Given the description of an element on the screen output the (x, y) to click on. 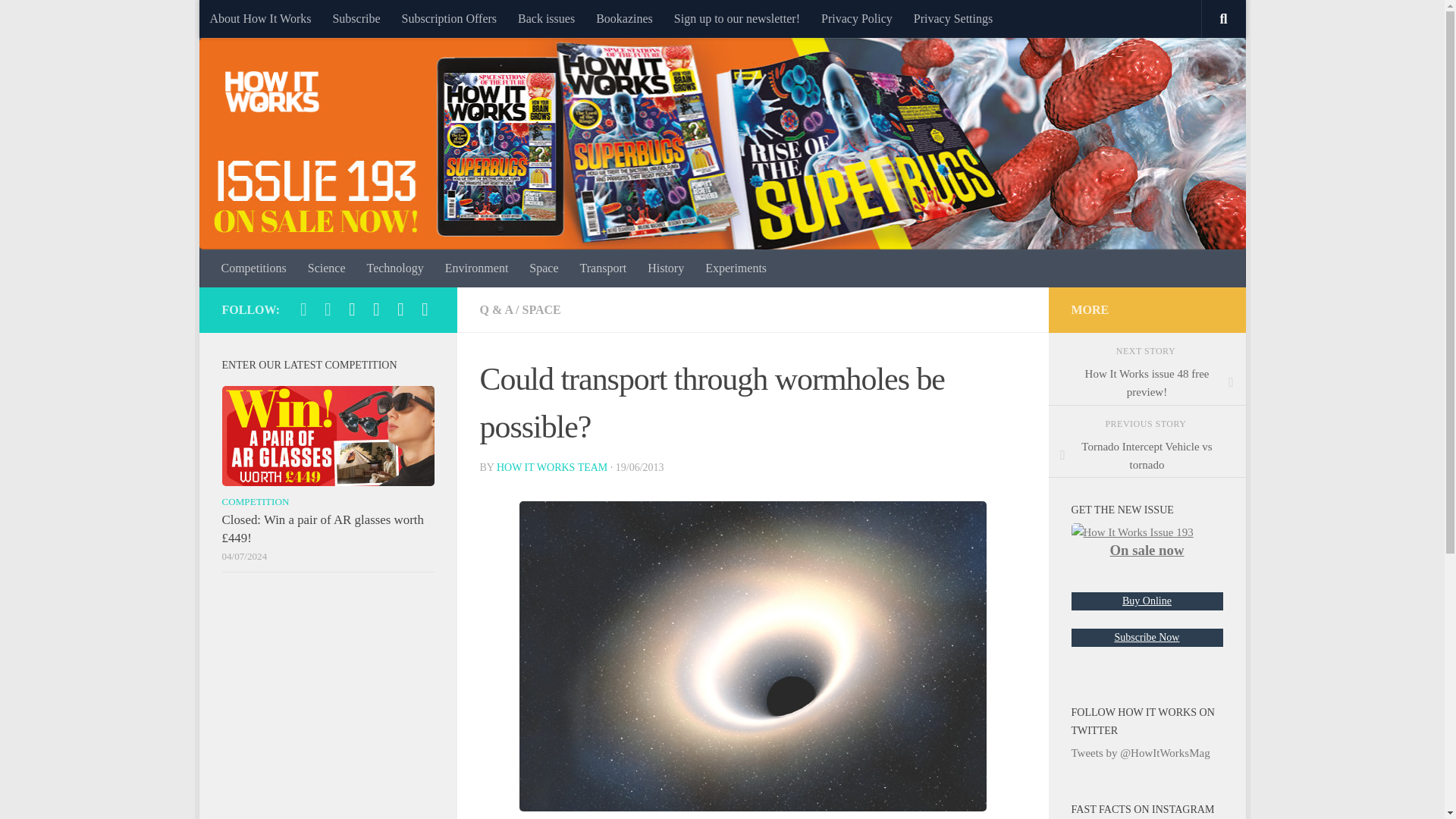
Science (326, 268)
Sign up to our newsletter! (736, 18)
Follow us on Twitter (400, 309)
Posts by How It Works Team (551, 467)
Email us (351, 309)
Skip to content (258, 20)
Follow us on Instagram (327, 309)
Get digital edition on the App Store (375, 309)
Technology (394, 268)
Privacy Policy (856, 18)
SPACE (541, 309)
Subscription Offers (448, 18)
Competitions (254, 268)
History (665, 268)
Back issues (545, 18)
